Given the description of an element on the screen output the (x, y) to click on. 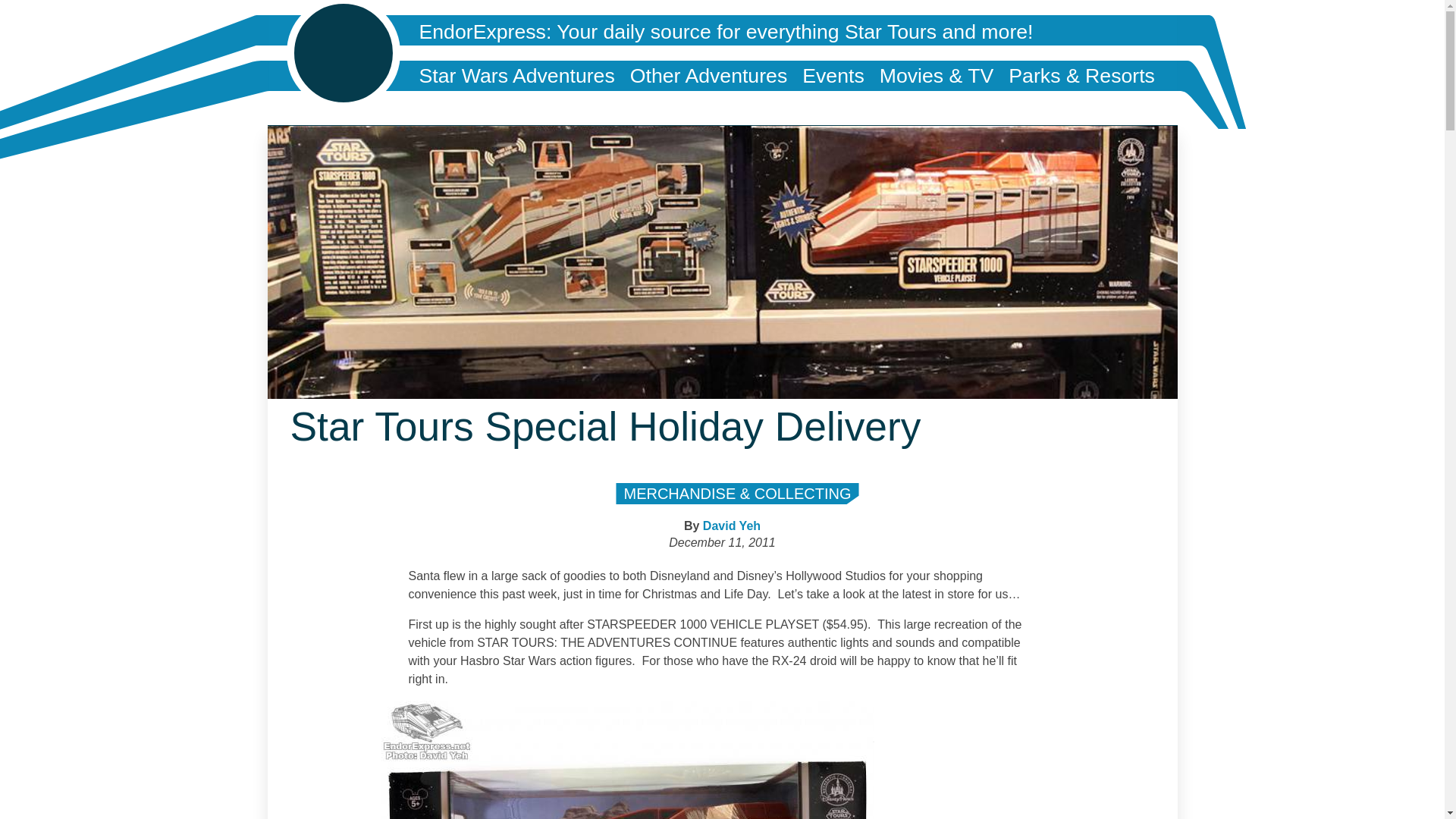
Posts by David Yeh (731, 525)
David Yeh (731, 525)
Your daily source for everything Star Tours and more! (794, 31)
Events (833, 75)
About (444, 105)
Other Adventures (708, 75)
EndorExpress (481, 31)
Star Wars Adventures (515, 75)
